Given the description of an element on the screen output the (x, y) to click on. 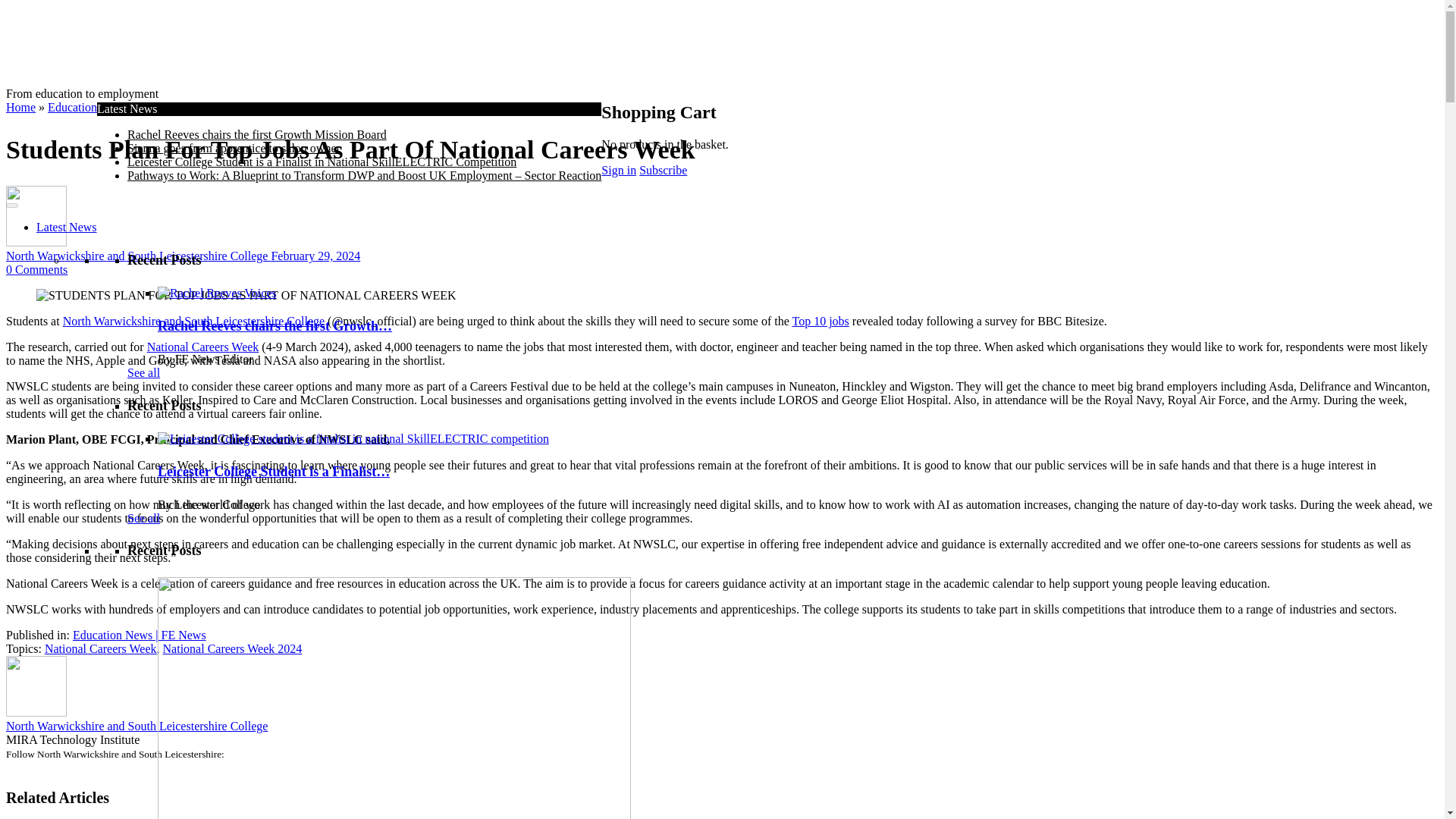
Rachel Reeves chairs the first Growth Mission Board (257, 133)
Latest News (66, 226)
Subscribe (663, 169)
Sienna goes from apprentice to salon owner (234, 147)
See all (144, 517)
Sign in (618, 169)
See all (144, 372)
